Given the description of an element on the screen output the (x, y) to click on. 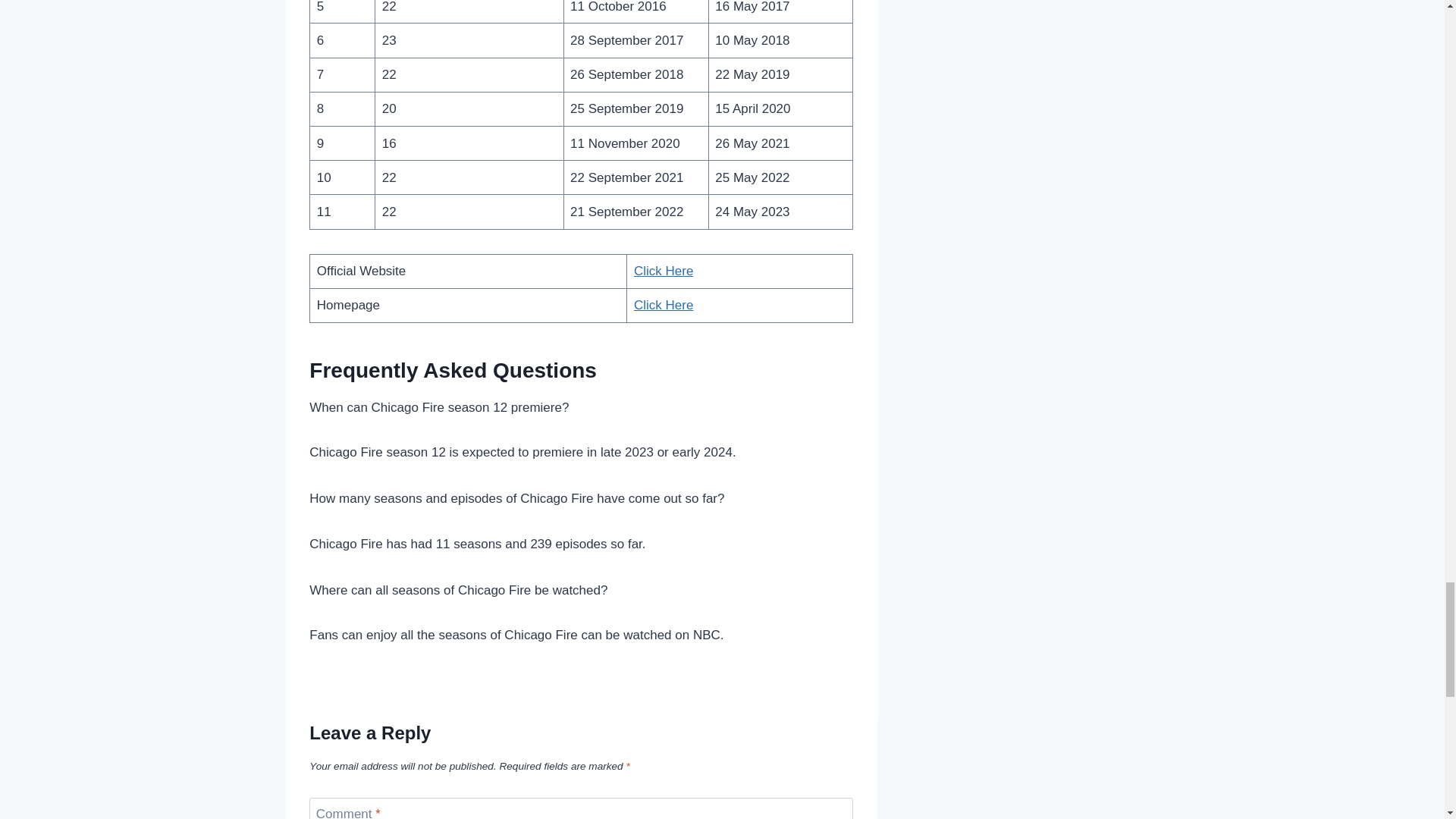
Click Here (663, 305)
Click Here (663, 270)
